Given the description of an element on the screen output the (x, y) to click on. 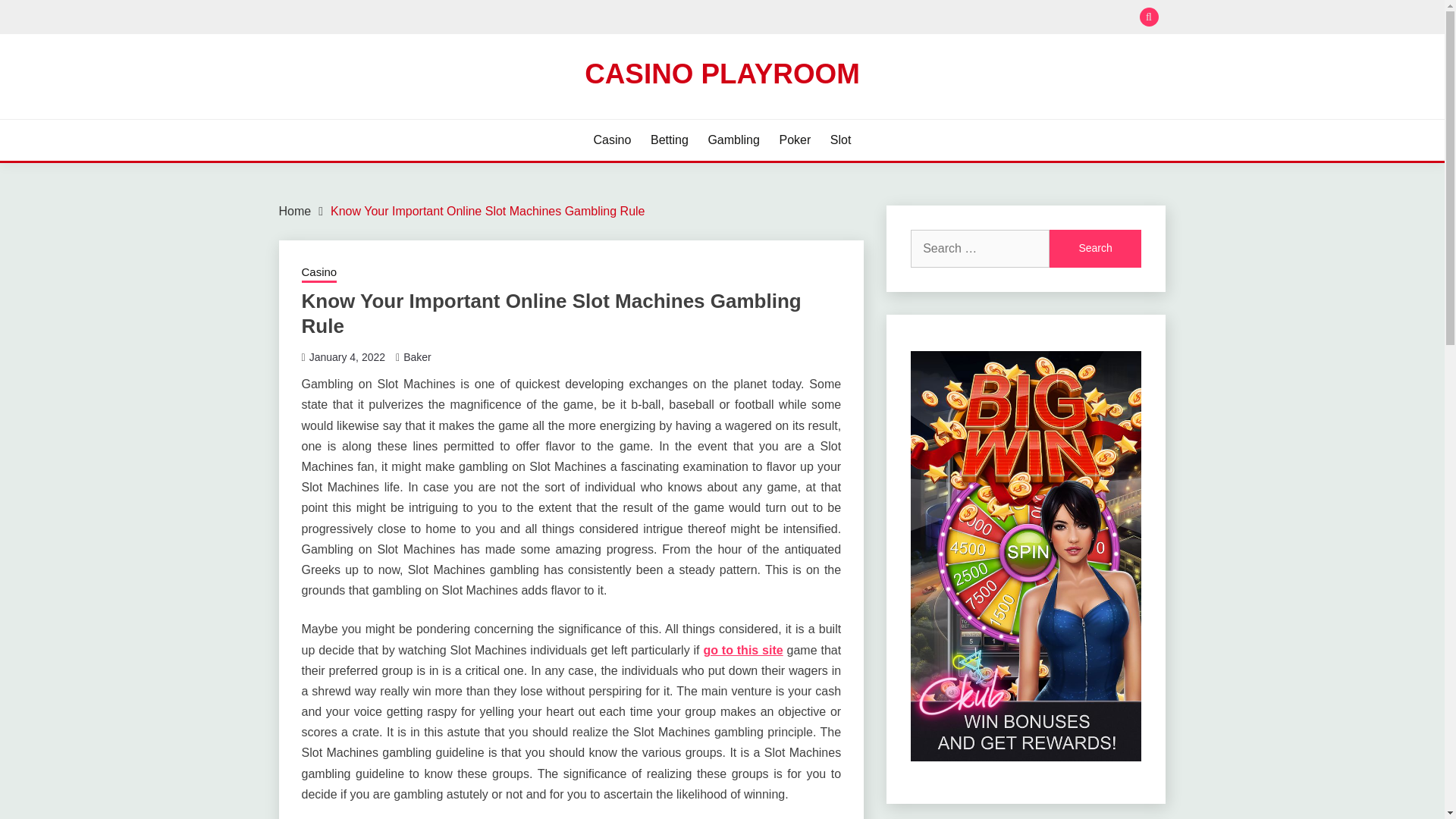
Home (295, 210)
Search (1095, 248)
Gambling (732, 140)
go to this site (743, 649)
CASINO PLAYROOM (722, 73)
Search (832, 18)
Casino (612, 140)
Slot (840, 140)
Search (1095, 248)
Search (1095, 248)
Casino (319, 273)
Betting (669, 140)
January 4, 2022 (346, 357)
Know Your Important Online Slot Machines Gambling Rule (487, 210)
Poker (794, 140)
